Given the description of an element on the screen output the (x, y) to click on. 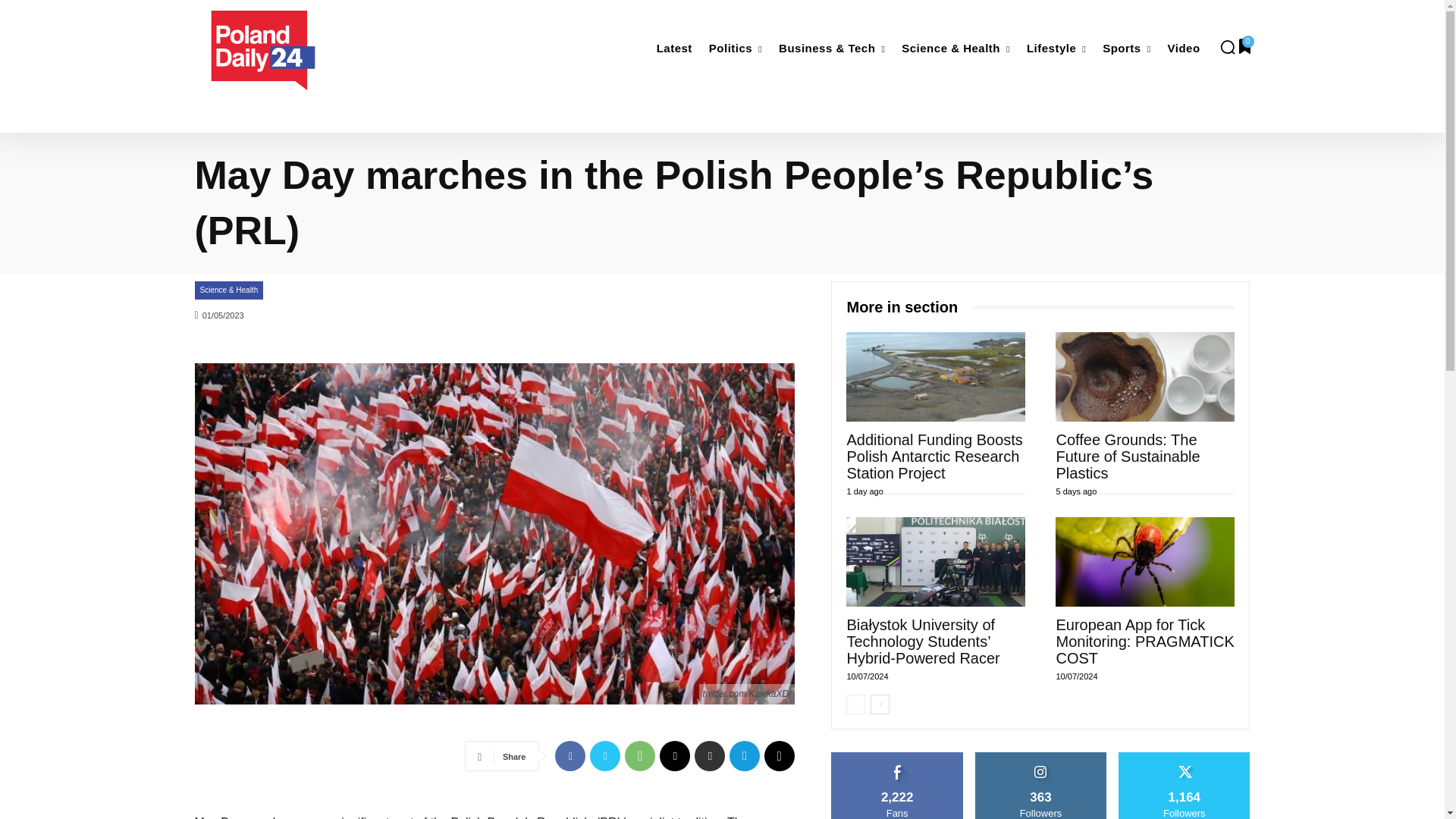
Politics (735, 48)
Latest (674, 48)
